Given the description of an element on the screen output the (x, y) to click on. 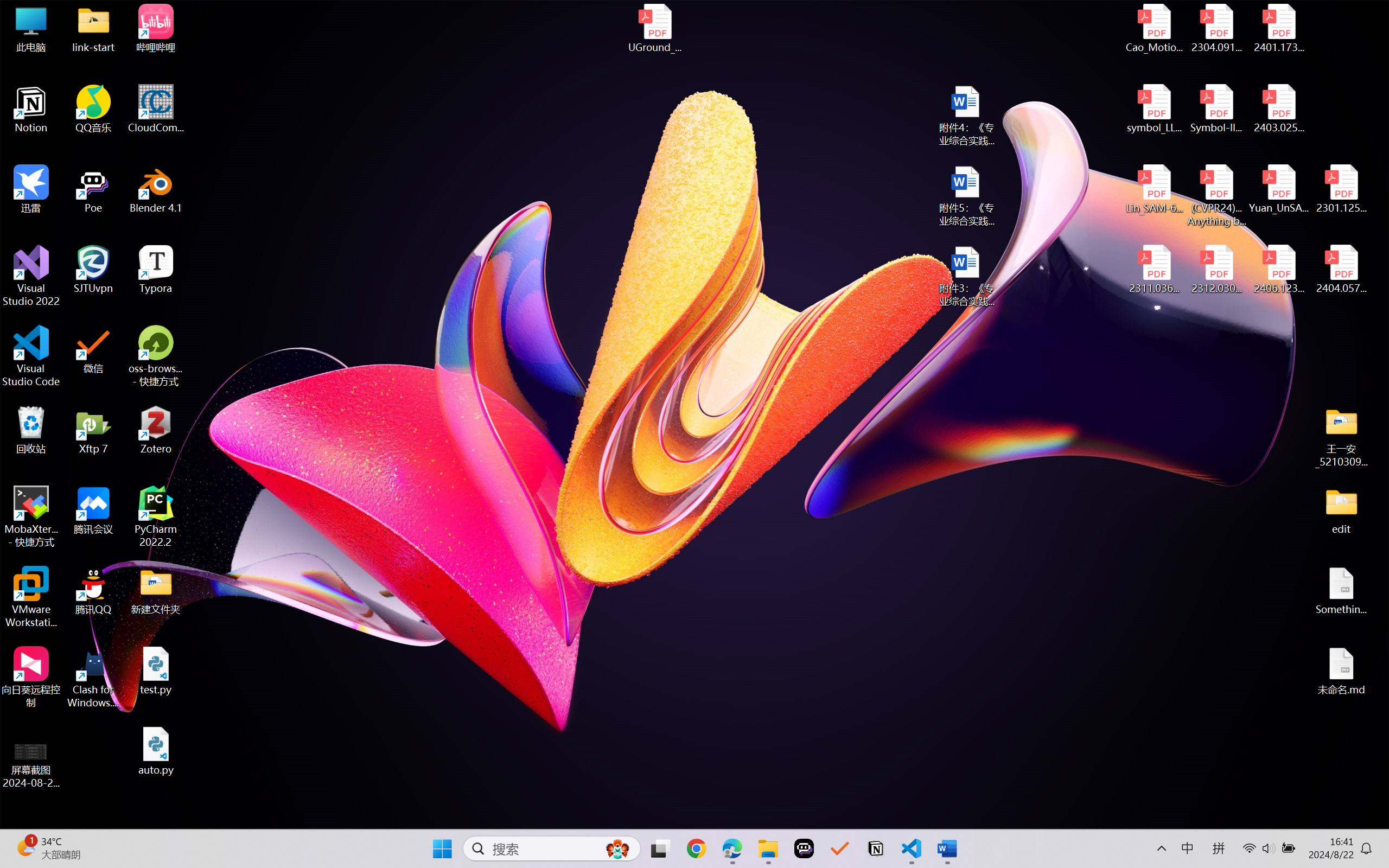
symbol_LLM.pdf (1154, 109)
2301.12597v3.pdf (1340, 189)
SJTUvpn (93, 269)
